Given the description of an element on the screen output the (x, y) to click on. 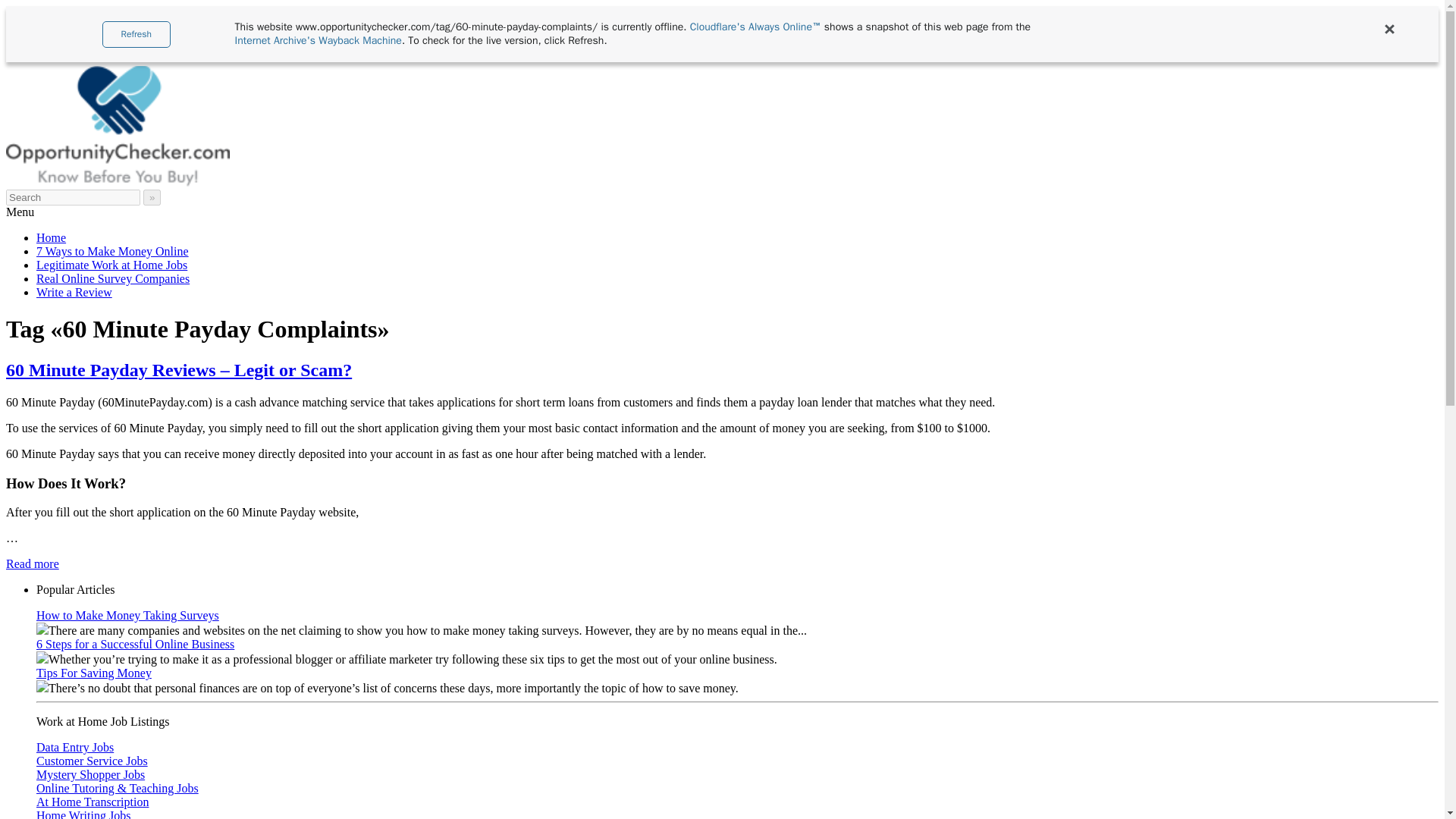
Real Online Survey Companies (112, 278)
Tips For Saving Money (93, 672)
Home Writing Jobs (83, 814)
Data Entry Jobs (74, 747)
Home (50, 237)
Internet Archive's Wayback Machine (317, 40)
How to Make Money Taking Surveys (127, 615)
6 Steps for a Successful Online Business (135, 644)
Legitimate Work at Home Jobs (111, 264)
Read more (32, 563)
